Given the description of an element on the screen output the (x, y) to click on. 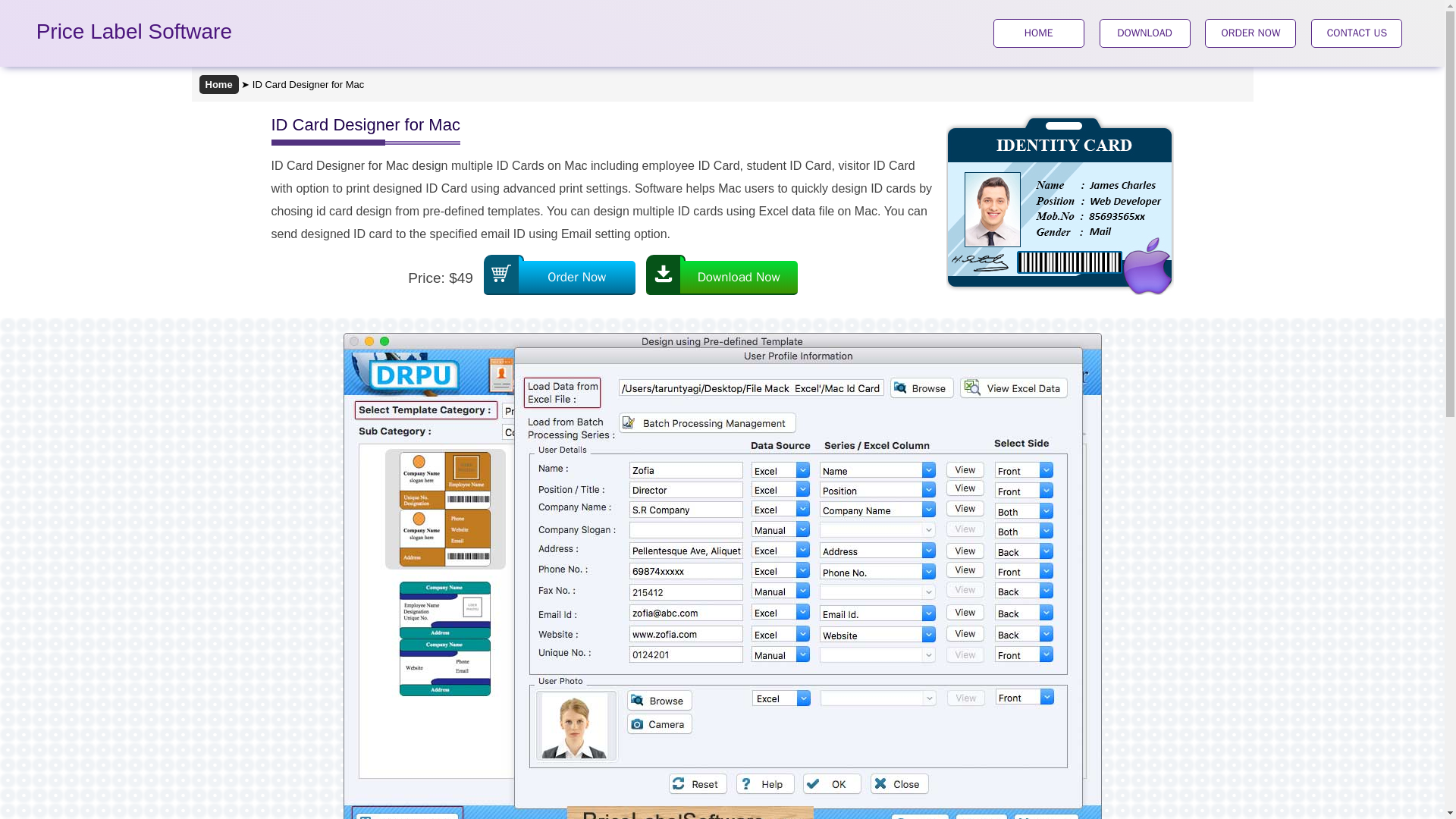
CONTACT US (1356, 32)
Download Now (721, 277)
Price Label Software (133, 34)
DOWNLOAD (1145, 32)
Home (218, 84)
Home (218, 84)
Download Now (721, 277)
Order Now (558, 277)
CONTACT US (1356, 32)
Price Label Software (133, 34)
ORDER NOW (1250, 32)
DOWNLOAD (1145, 32)
ORDER NOW (1250, 32)
HOME (1038, 32)
Order Now (558, 277)
